Given the description of an element on the screen output the (x, y) to click on. 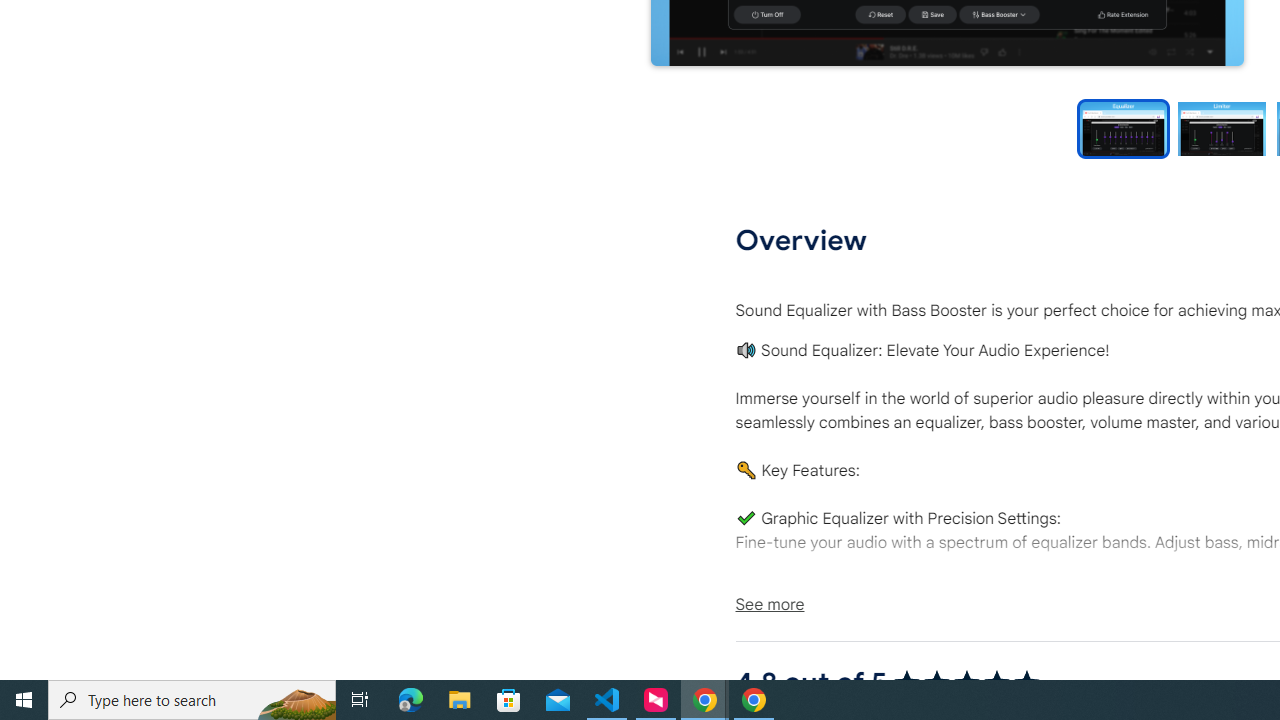
4.8 out of 5 stars (965, 682)
Preview slide 2 (1221, 128)
Preview slide 1 (1123, 128)
